Given the description of an element on the screen output the (x, y) to click on. 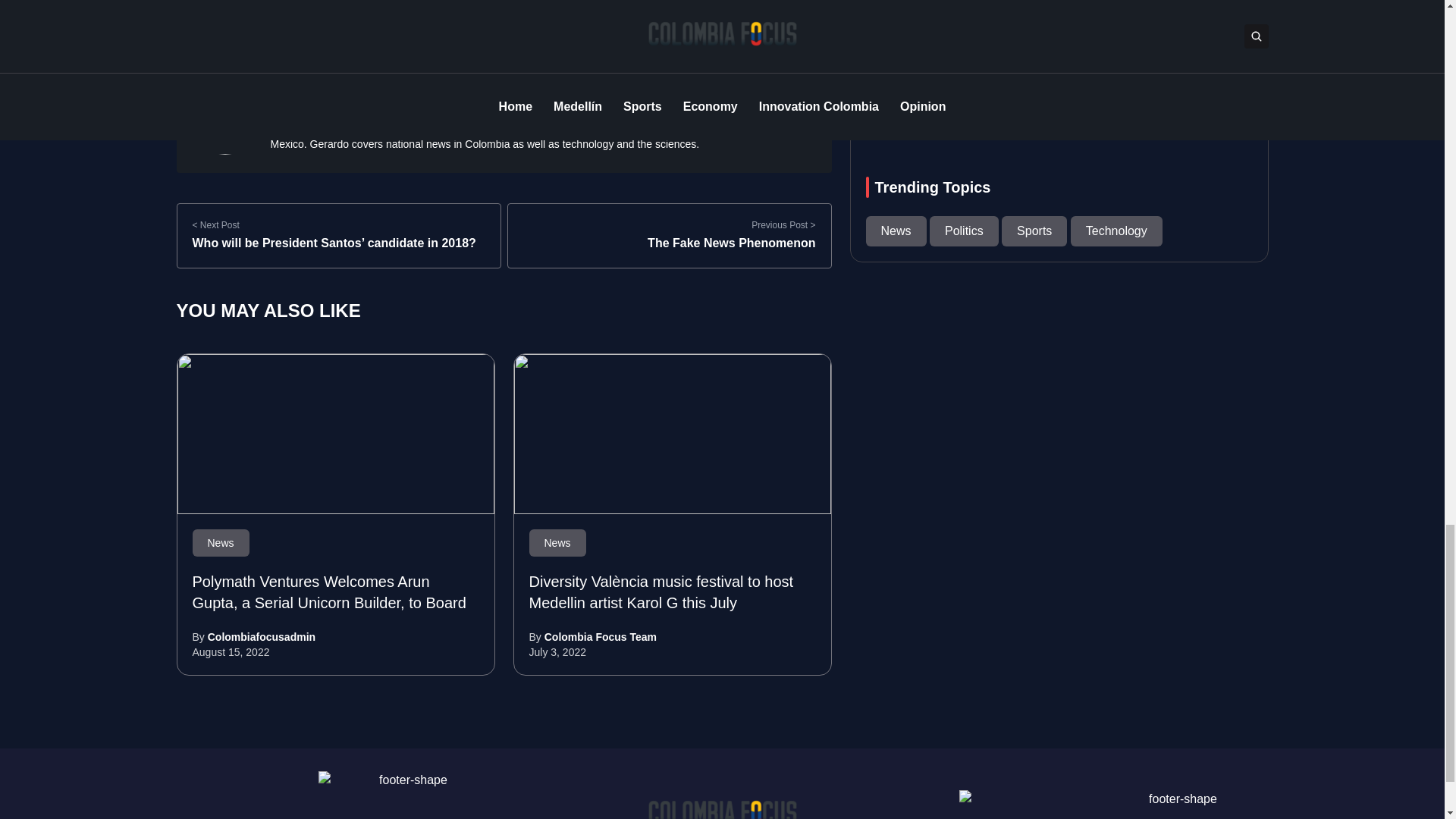
General Mendieta (224, 7)
News (220, 542)
terrorism (397, 7)
Colombiafocusadmin (261, 636)
News (557, 542)
The Fake News Phenomenon (731, 243)
